Given the description of an element on the screen output the (x, y) to click on. 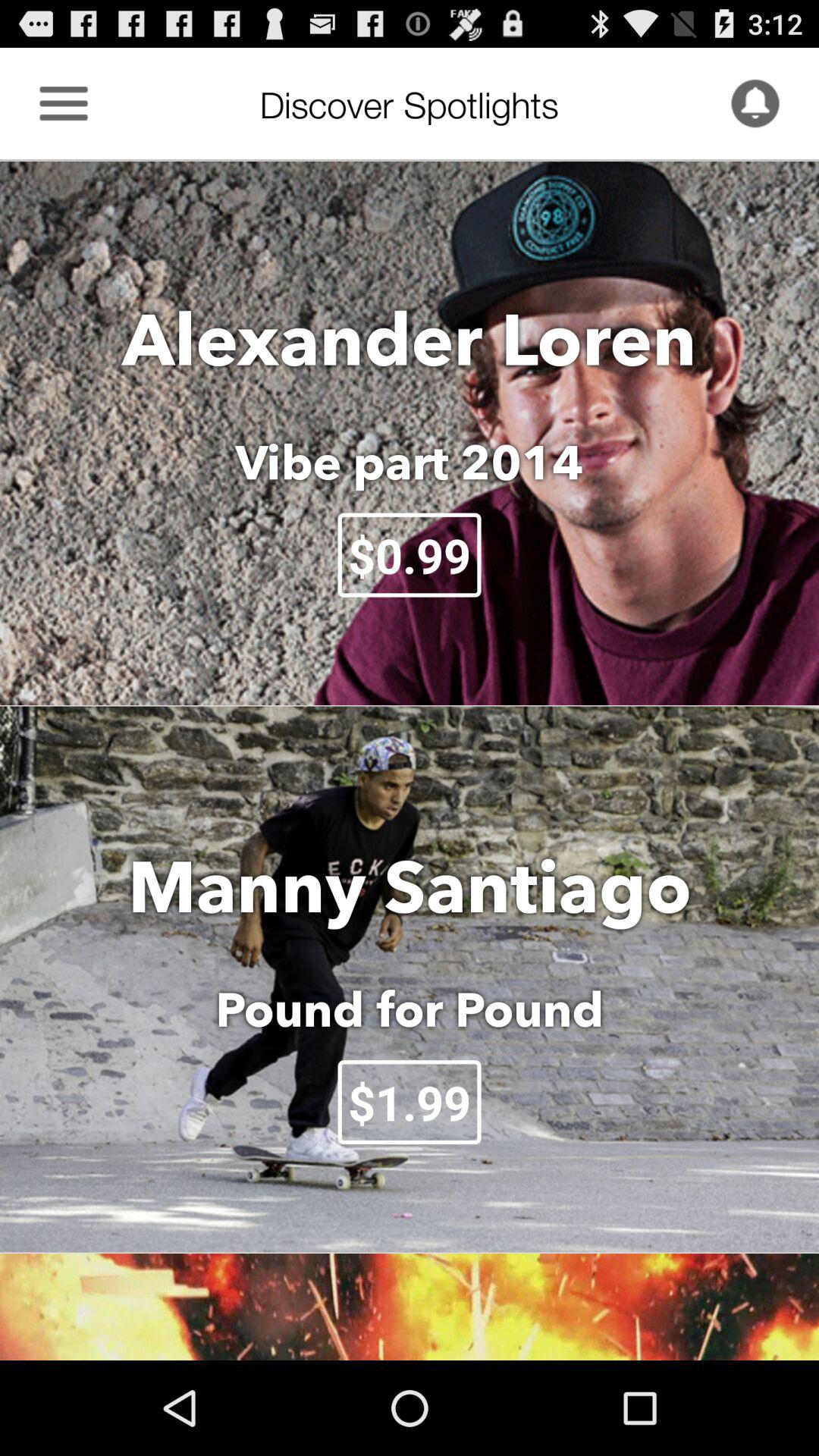
launch icon above the pound for pound icon (409, 885)
